Given the description of an element on the screen output the (x, y) to click on. 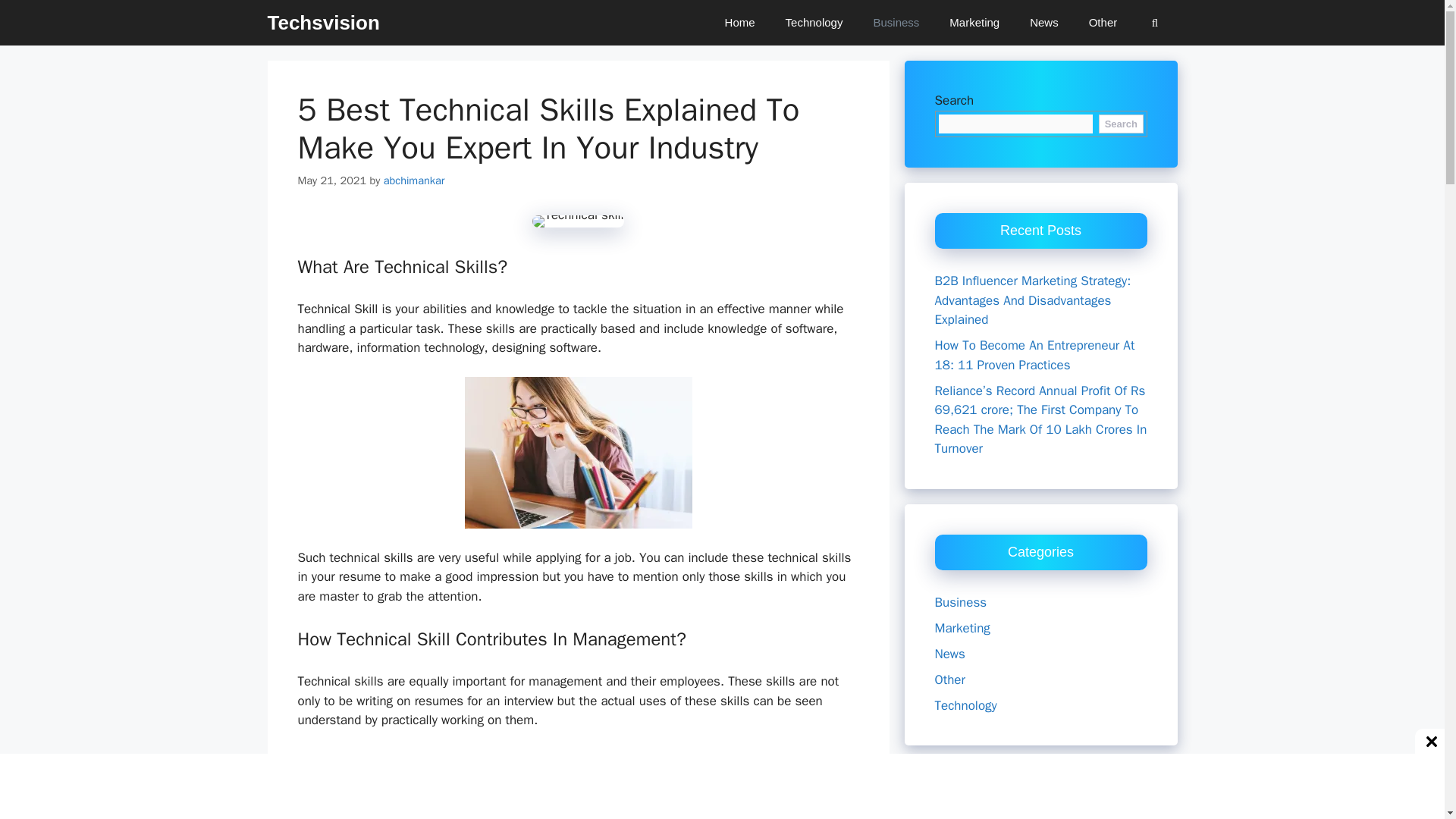
Techsvision (322, 22)
View all posts by abchimankar (414, 180)
Other (948, 679)
Marketing (962, 627)
News (948, 653)
Other (1103, 22)
Marketing (974, 22)
Technology (964, 705)
How To Become An Entrepreneur At 18: 11 Proven Practices (1034, 355)
News (1044, 22)
